Given the description of an element on the screen output the (x, y) to click on. 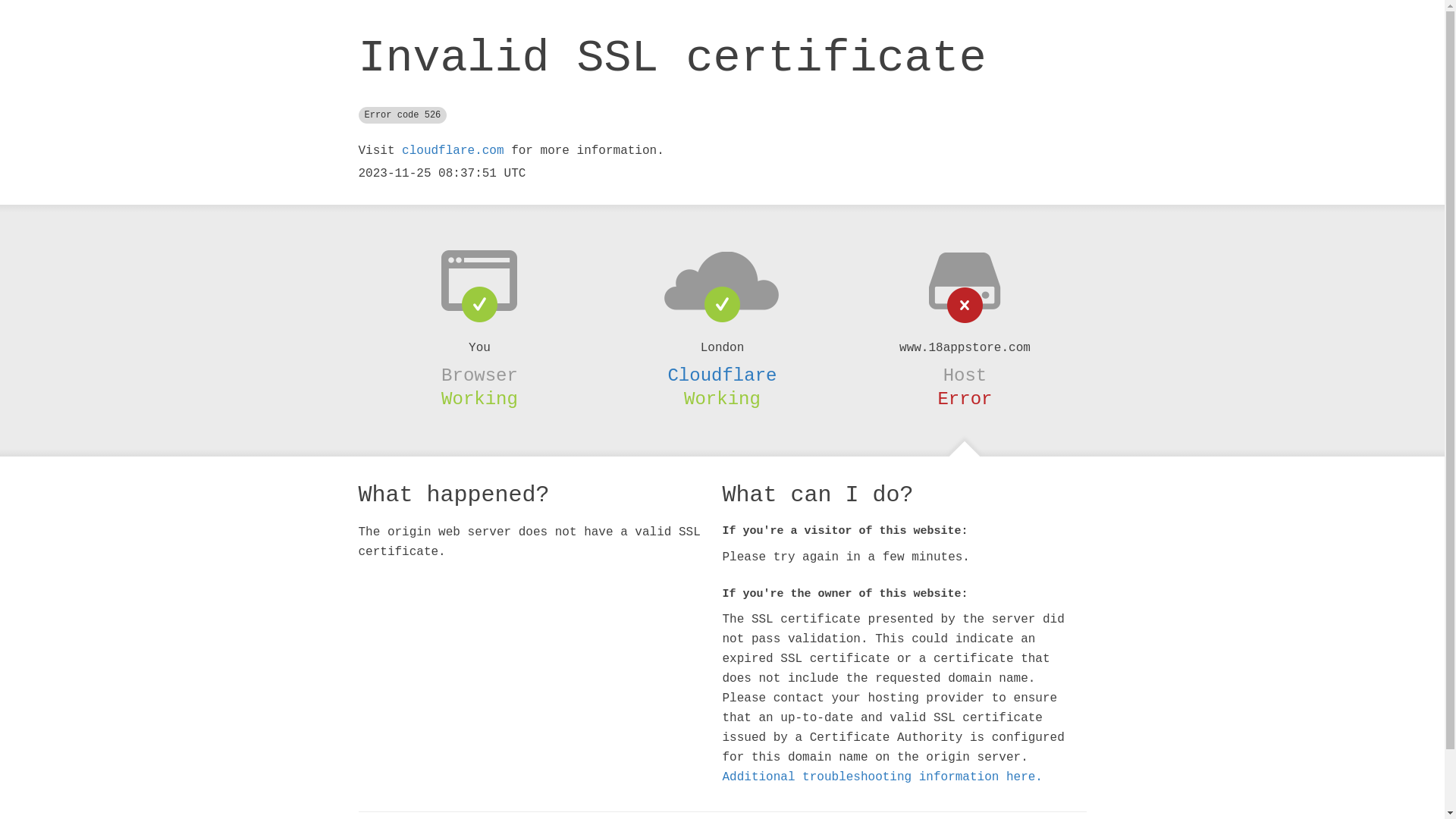
Additional troubleshooting information here. Element type: text (881, 777)
Cloudflare Element type: text (721, 375)
cloudflare.com Element type: text (452, 150)
